Given the description of an element on the screen output the (x, y) to click on. 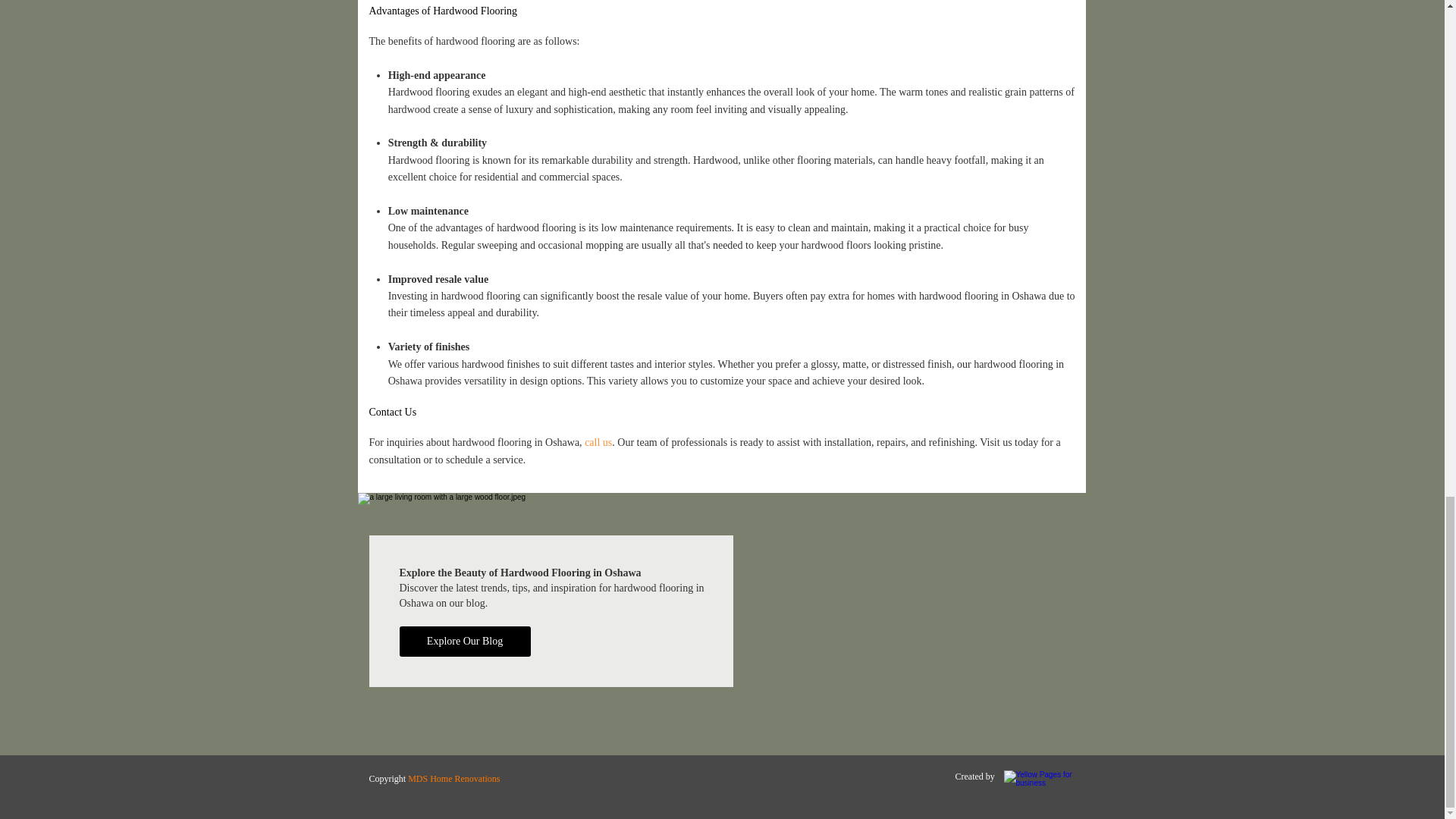
call us (598, 441)
Explore Our Blog (463, 641)
MDS Home Renovations (453, 778)
